Given the description of an element on the screen output the (x, y) to click on. 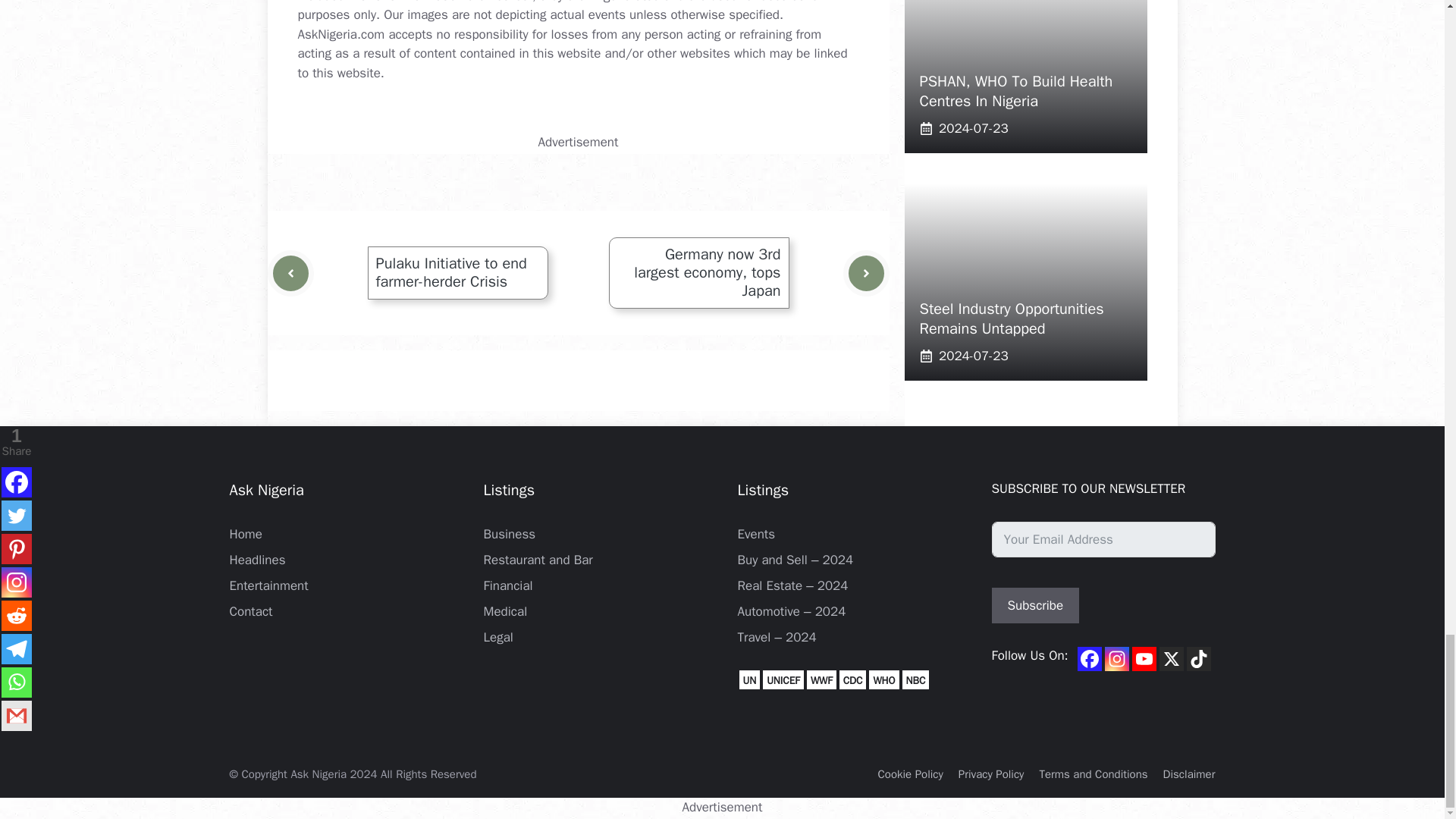
Facebook (1089, 658)
Instagram (1117, 658)
Youtube channel (1144, 658)
